Given the description of an element on the screen output the (x, y) to click on. 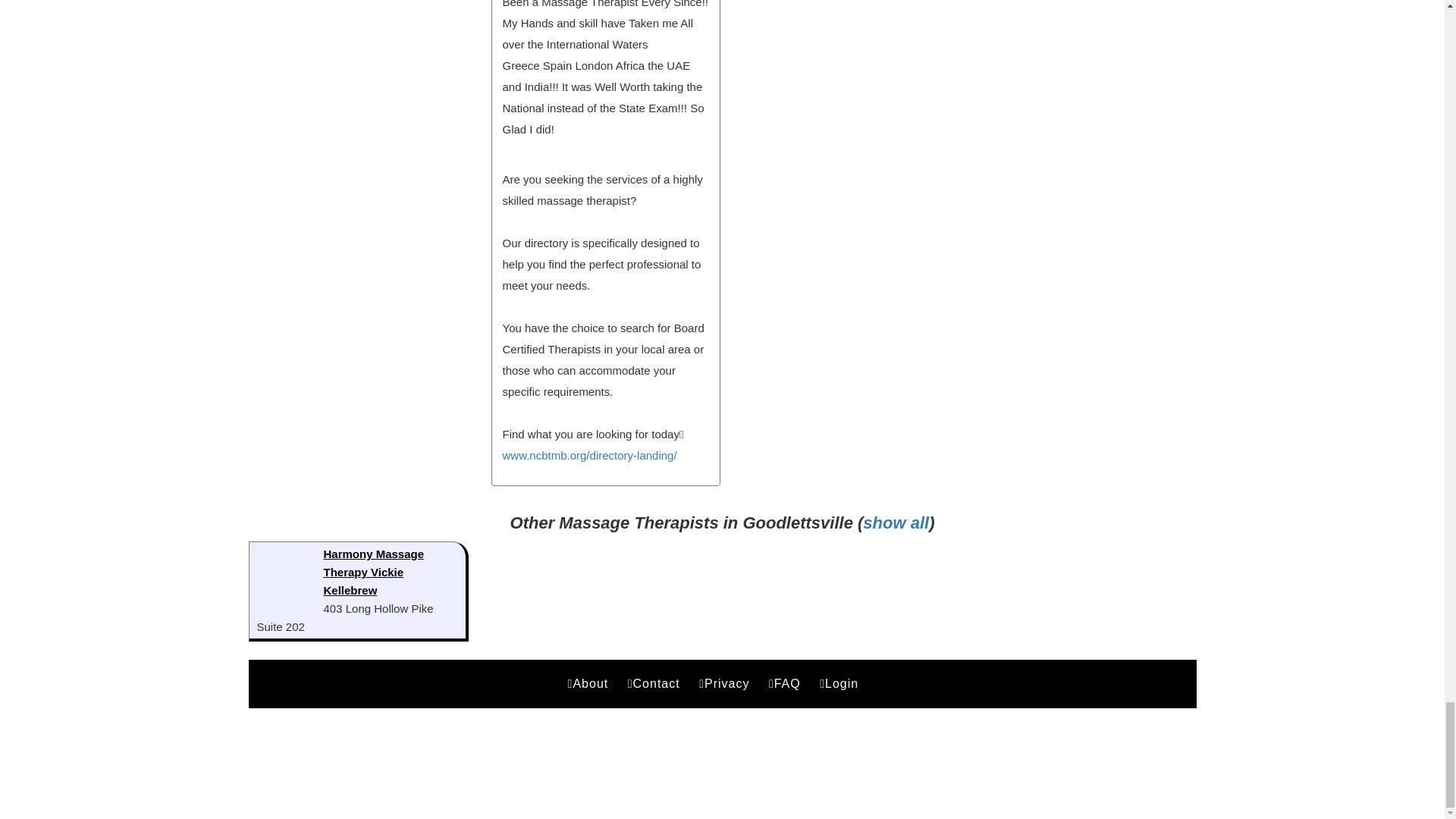
show all (895, 522)
Harmony Massage Therapy Vickie Kellebrew (373, 572)
Contact (656, 683)
About (590, 683)
